Given the description of an element on the screen output the (x, y) to click on. 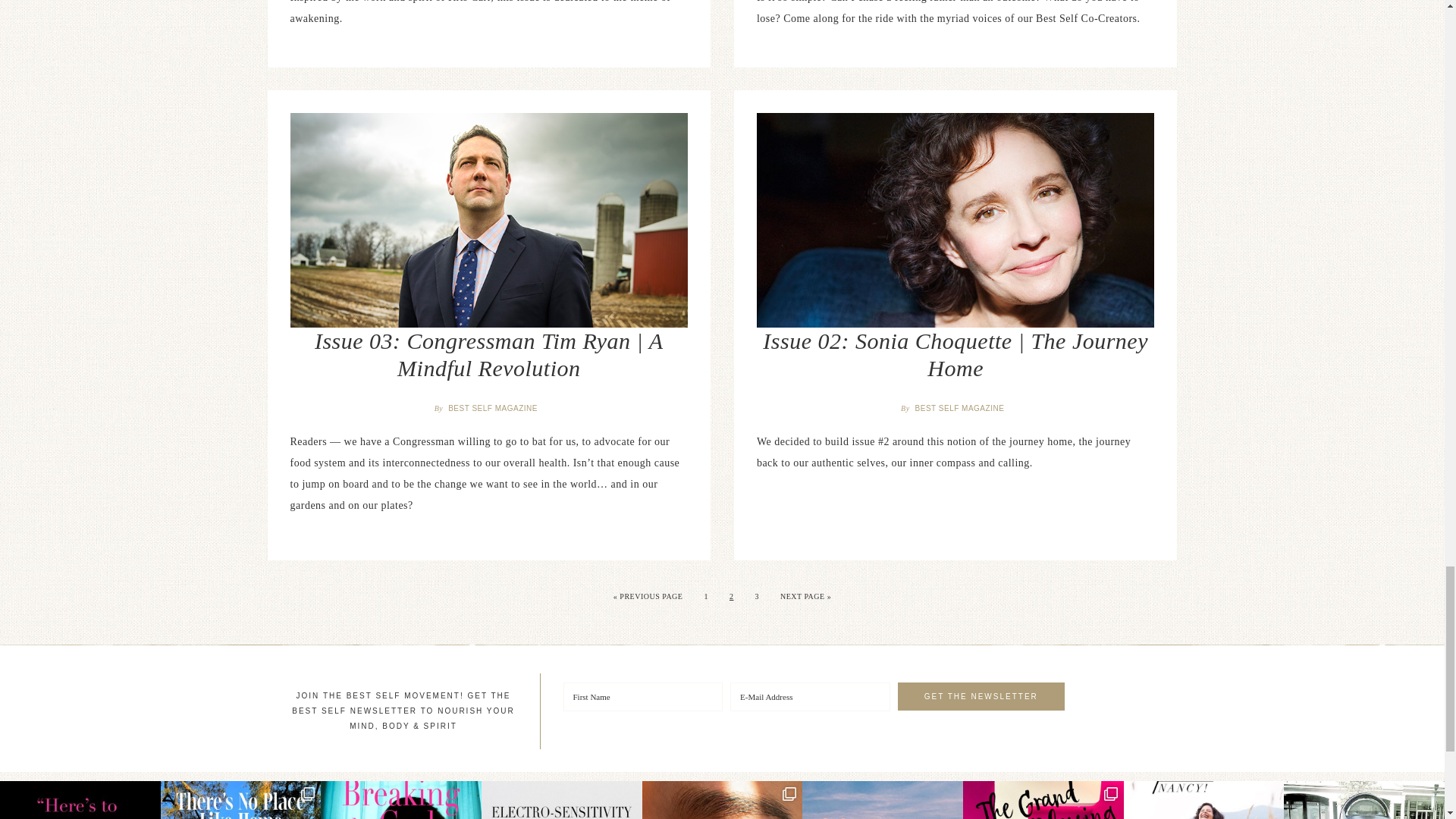
GET THE NEWSLETTER (981, 696)
